Given the description of an element on the screen output the (x, y) to click on. 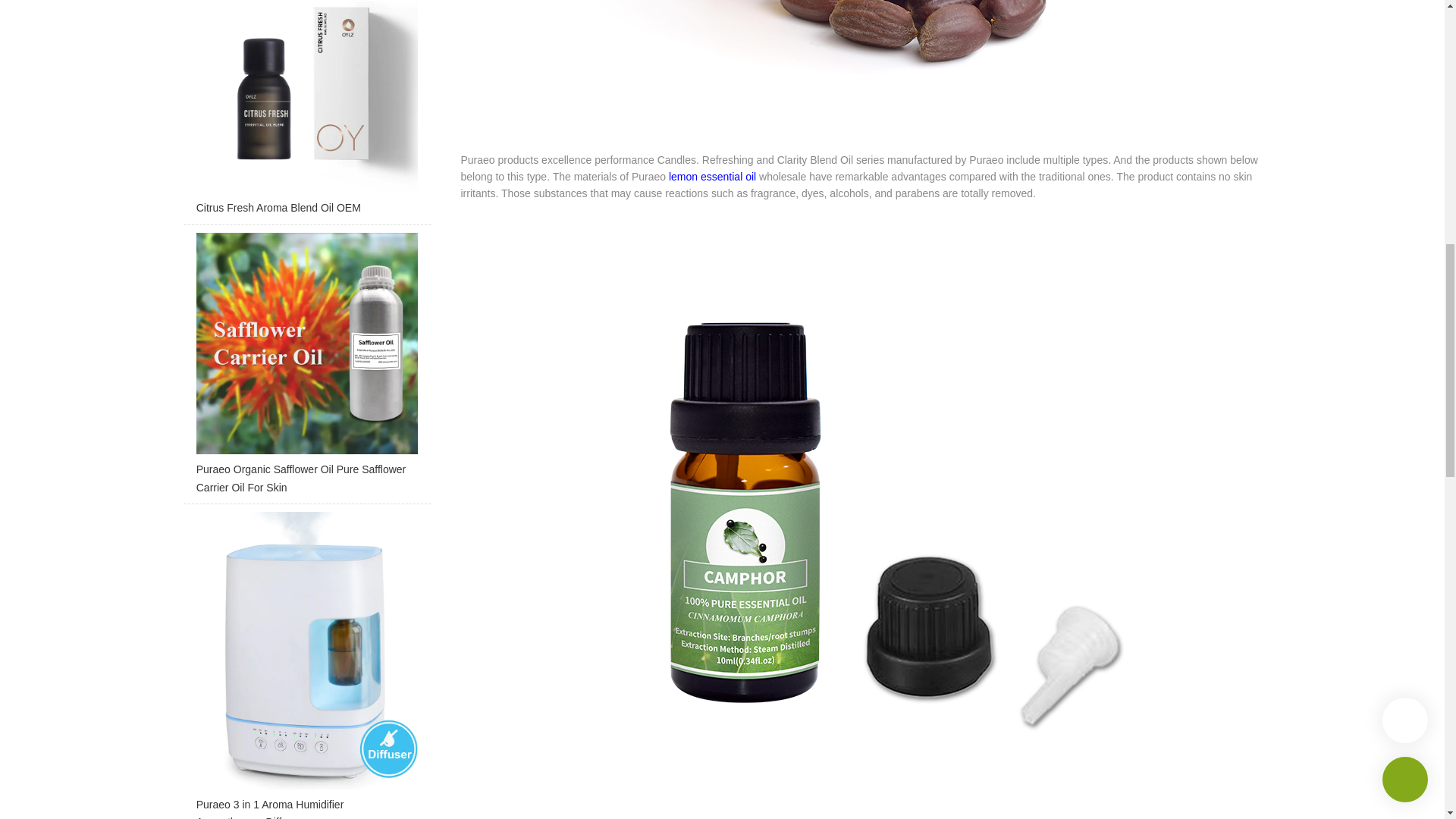
lemon essential oil (711, 176)
Citrus Fresh Aroma Blend Oil OEM (306, 112)
